Given the description of an element on the screen output the (x, y) to click on. 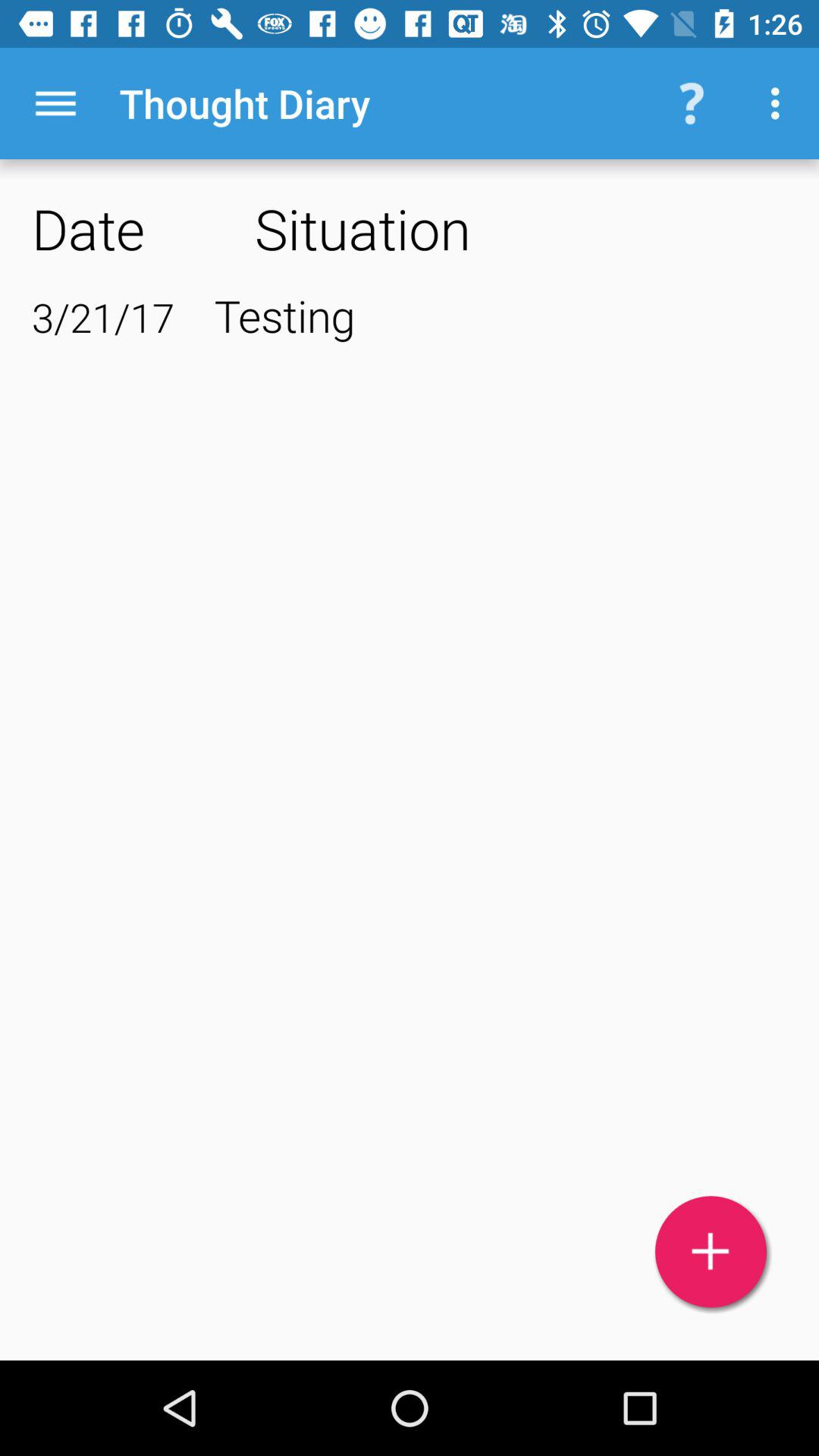
choose the testing app (500, 315)
